Given the description of an element on the screen output the (x, y) to click on. 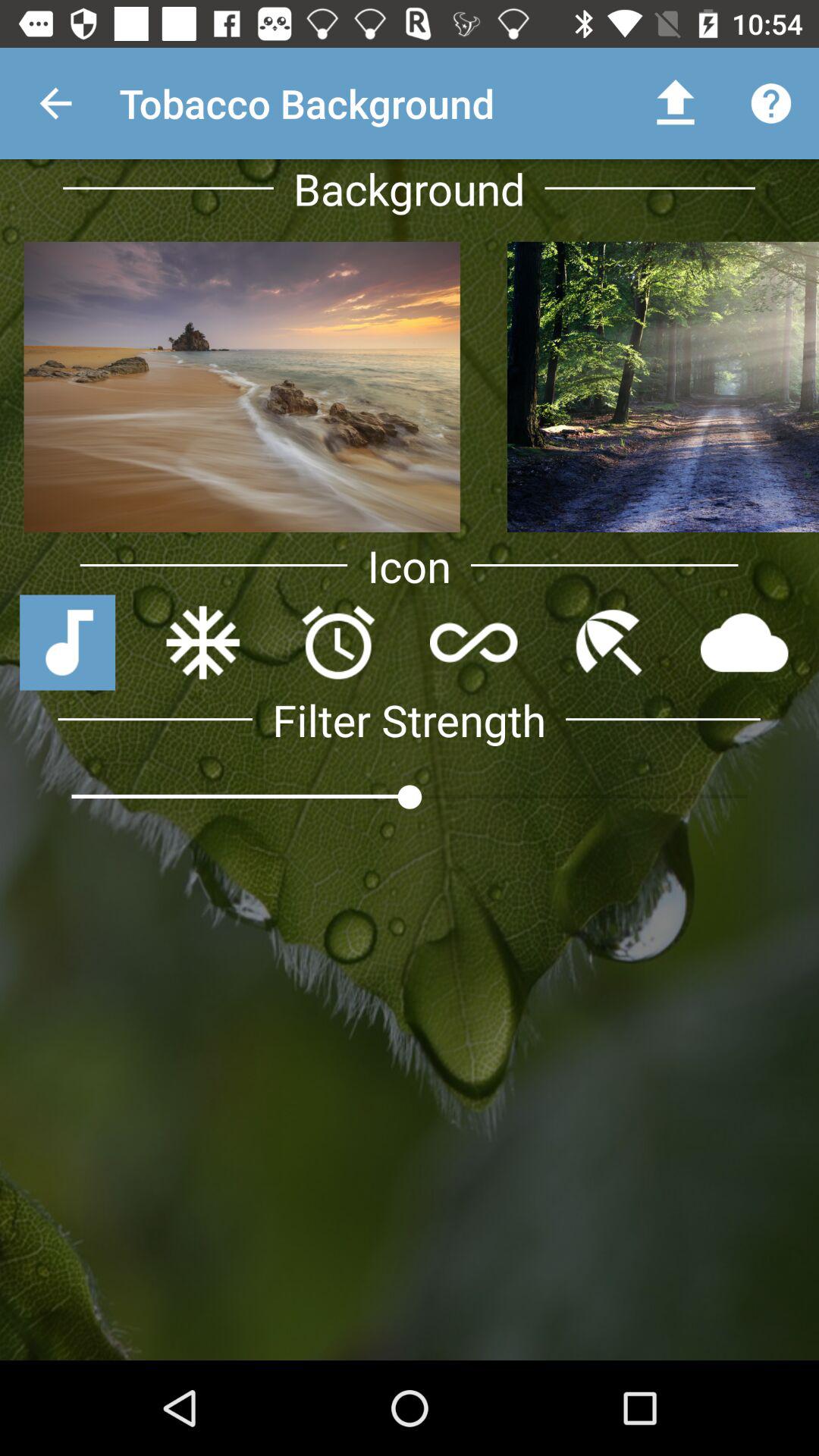
select the upward arrow which is right to the text tobacco background (675, 103)
select the question mark icon (771, 103)
tap the blue music icon (67, 642)
select the second picture (661, 386)
select the cloud icon which is on the right side below the image (744, 642)
